Given the description of an element on the screen output the (x, y) to click on. 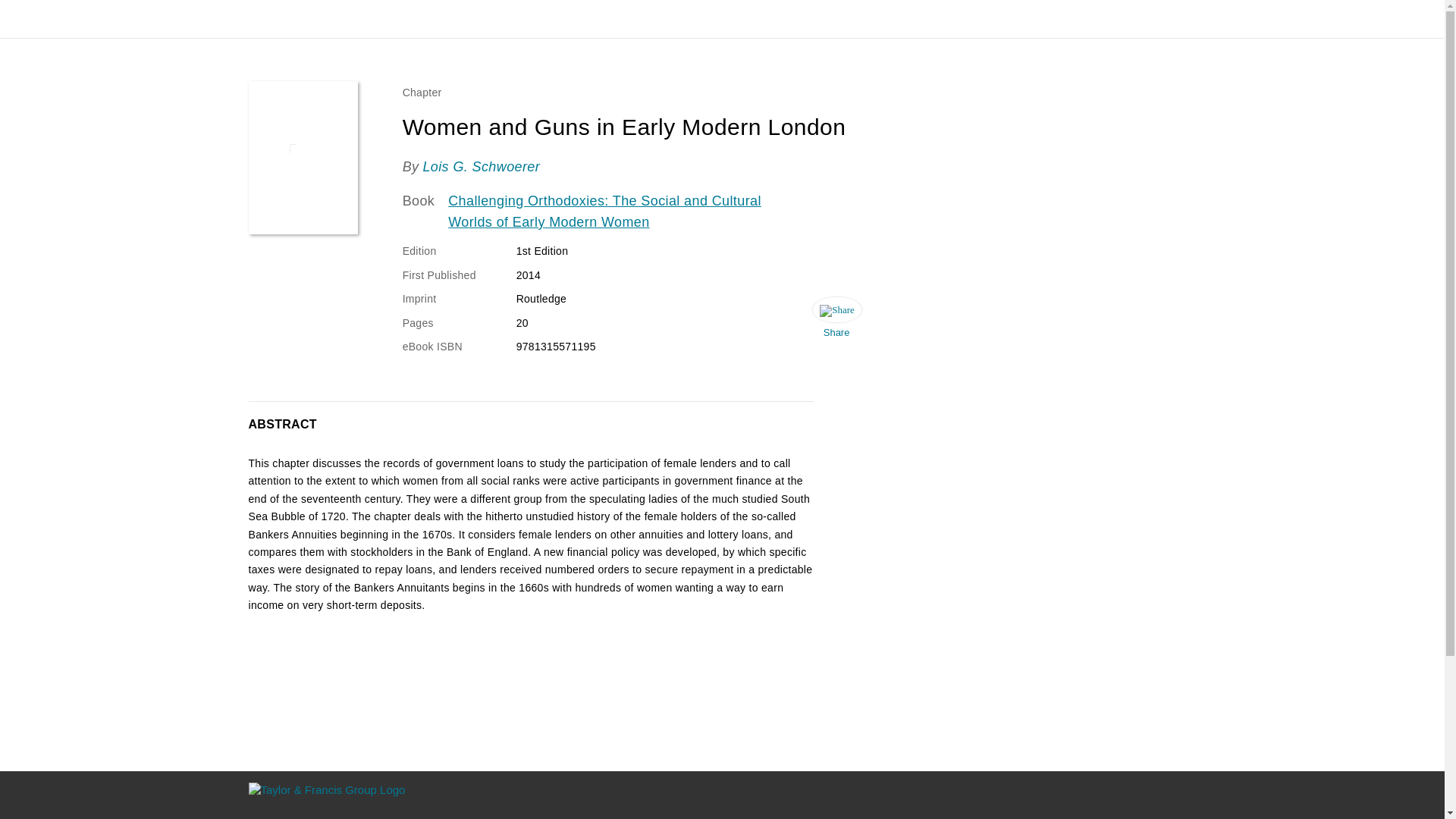
Share (836, 321)
Lois G. Schwoerer (481, 166)
